Given the description of an element on the screen output the (x, y) to click on. 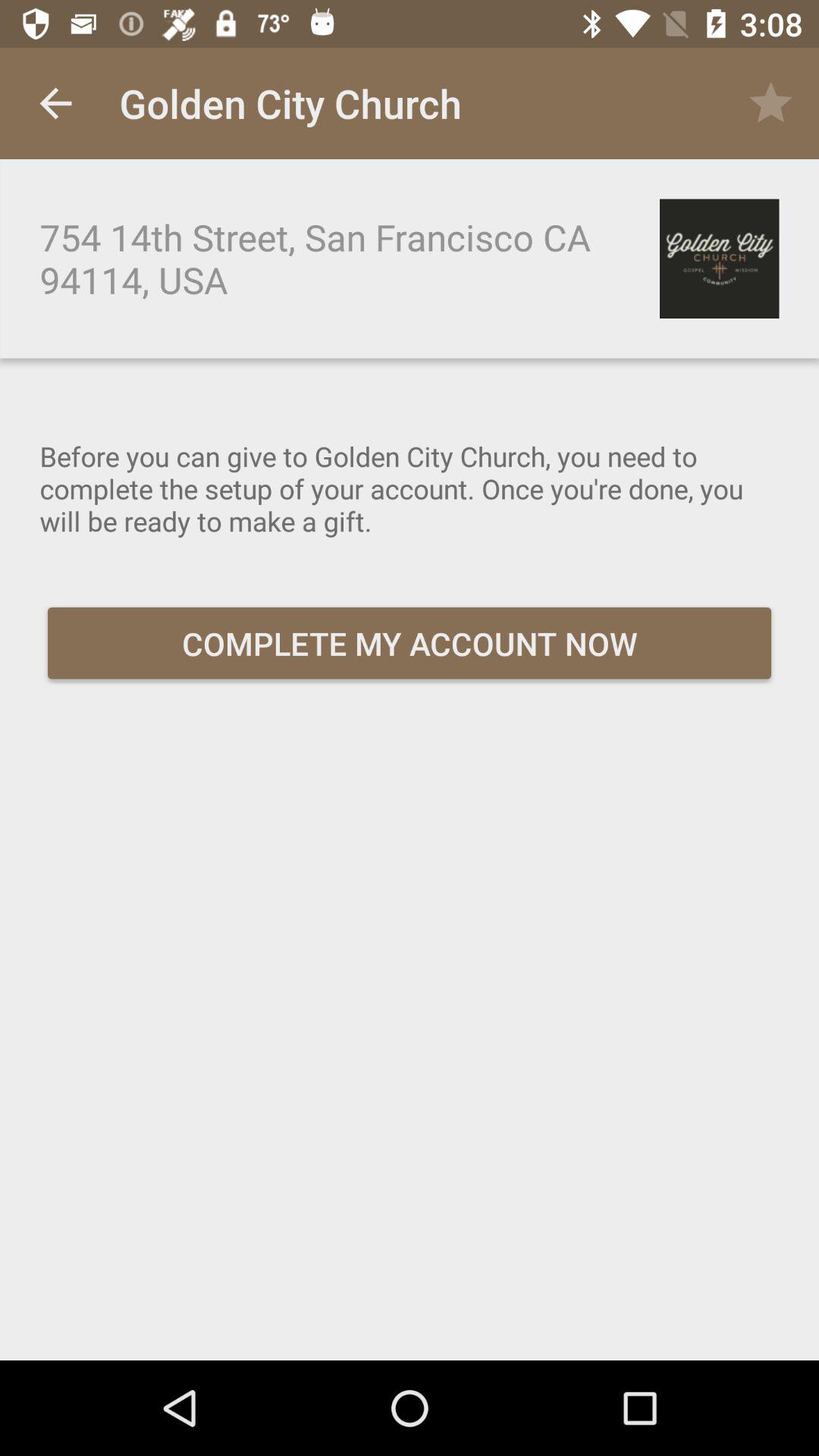
tap the item at the top left corner (55, 103)
